Given the description of an element on the screen output the (x, y) to click on. 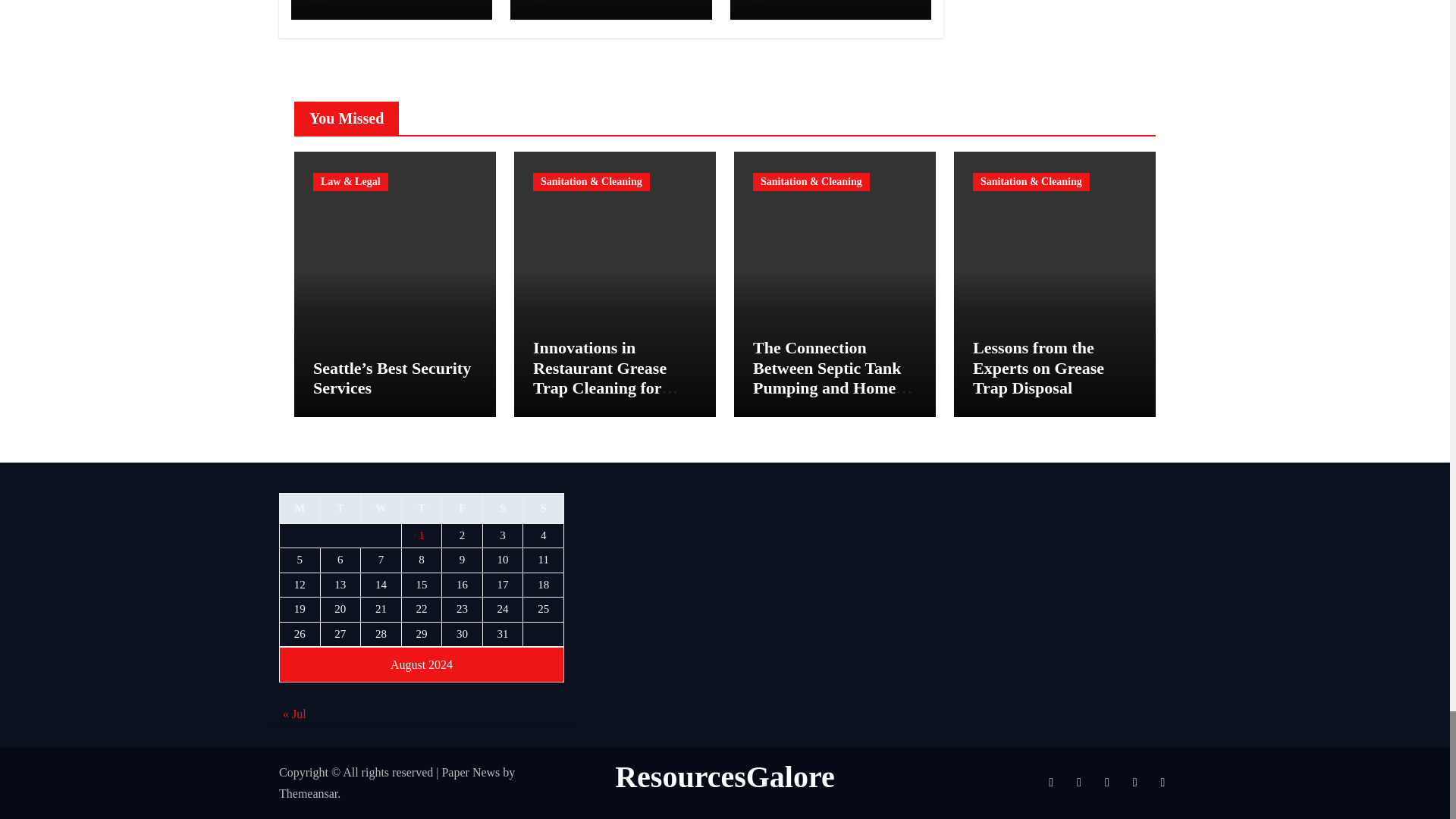
Thursday (421, 508)
Tuesday (340, 508)
Wednesday (381, 508)
Monday (299, 508)
